Given the description of an element on the screen output the (x, y) to click on. 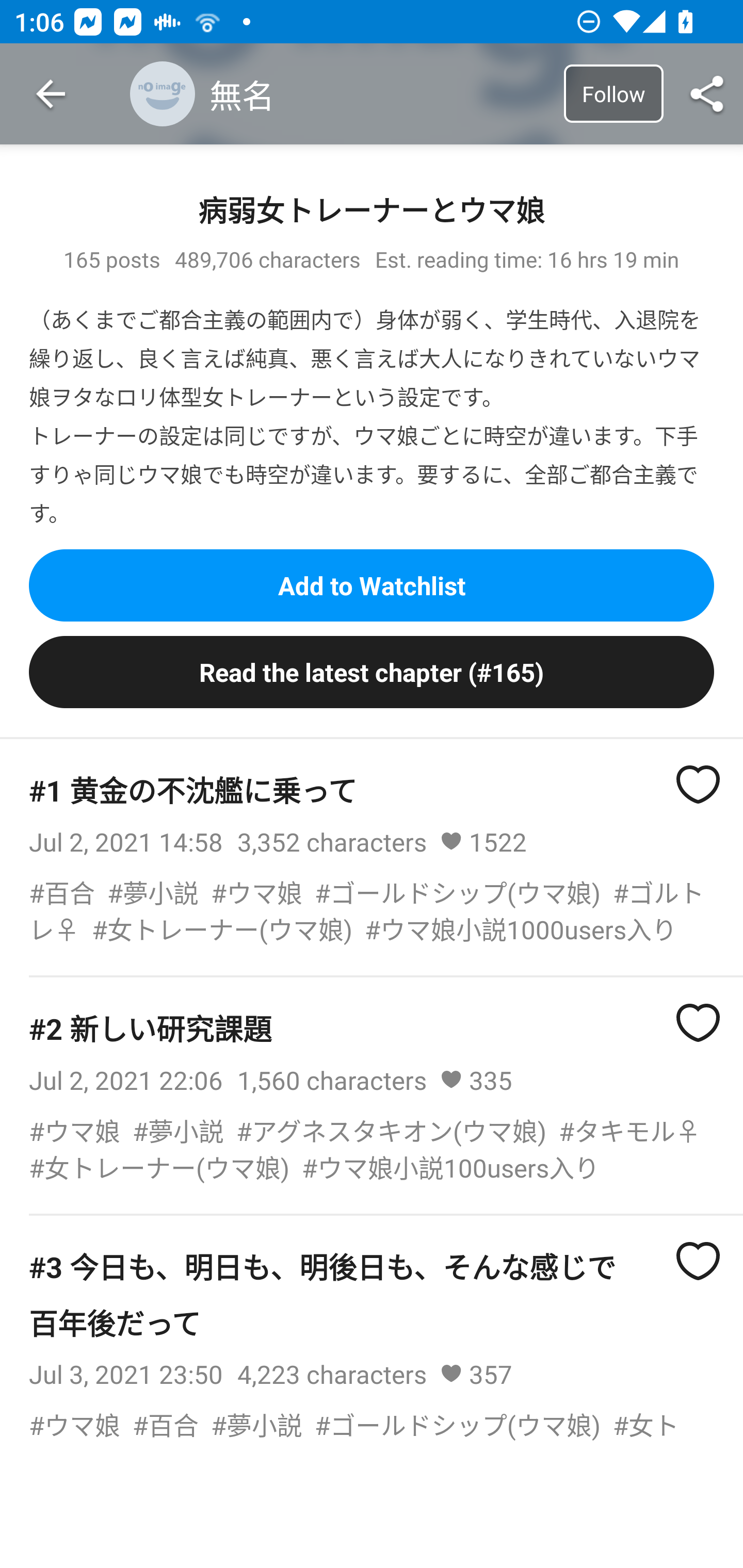
Navigate up (50, 93)
Share (706, 93)
無名 (343, 94)
Follow (613, 93)
Add to Watchlist (371, 584)
Read the latest chapter (#165) (371, 672)
